Given the description of an element on the screen output the (x, y) to click on. 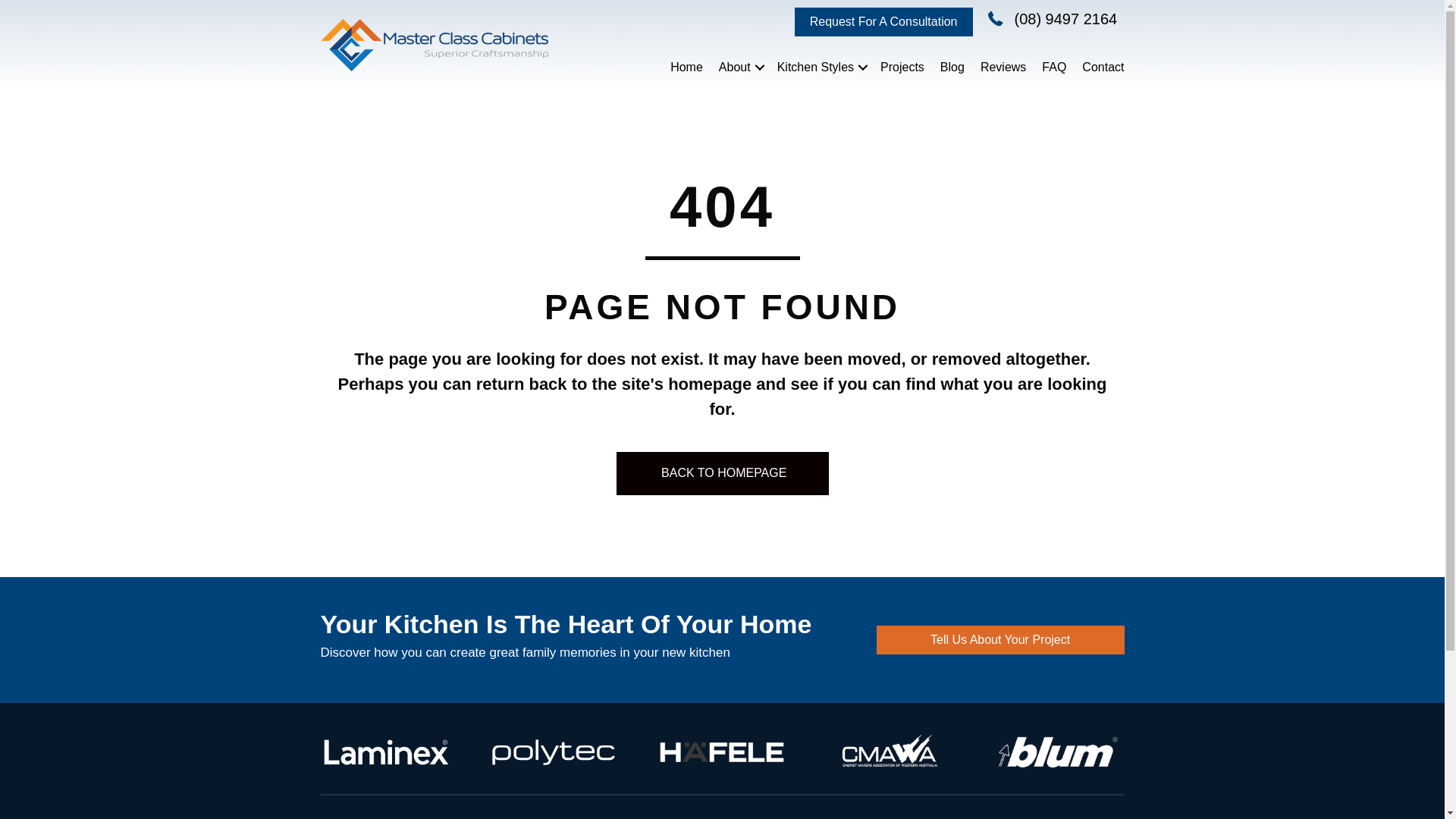
About Element type: text (739, 67)
Projects Element type: text (901, 67)
FAQ Element type: text (1053, 67)
Contact Element type: text (1102, 67)
mcc_logo_300 Element type: hover (433, 44)
Tell Us About Your Project Element type: text (1000, 639)
Home Element type: text (686, 67)
(08) 9497 2164 Element type: text (1065, 19)
Reviews Element type: text (1002, 67)
BACK TO HOMEPAGE Element type: text (721, 473)
Blog Element type: text (952, 67)
Request For A Consultation Element type: text (883, 21)
Kitchen Styles Element type: text (820, 67)
